Given the description of an element on the screen output the (x, y) to click on. 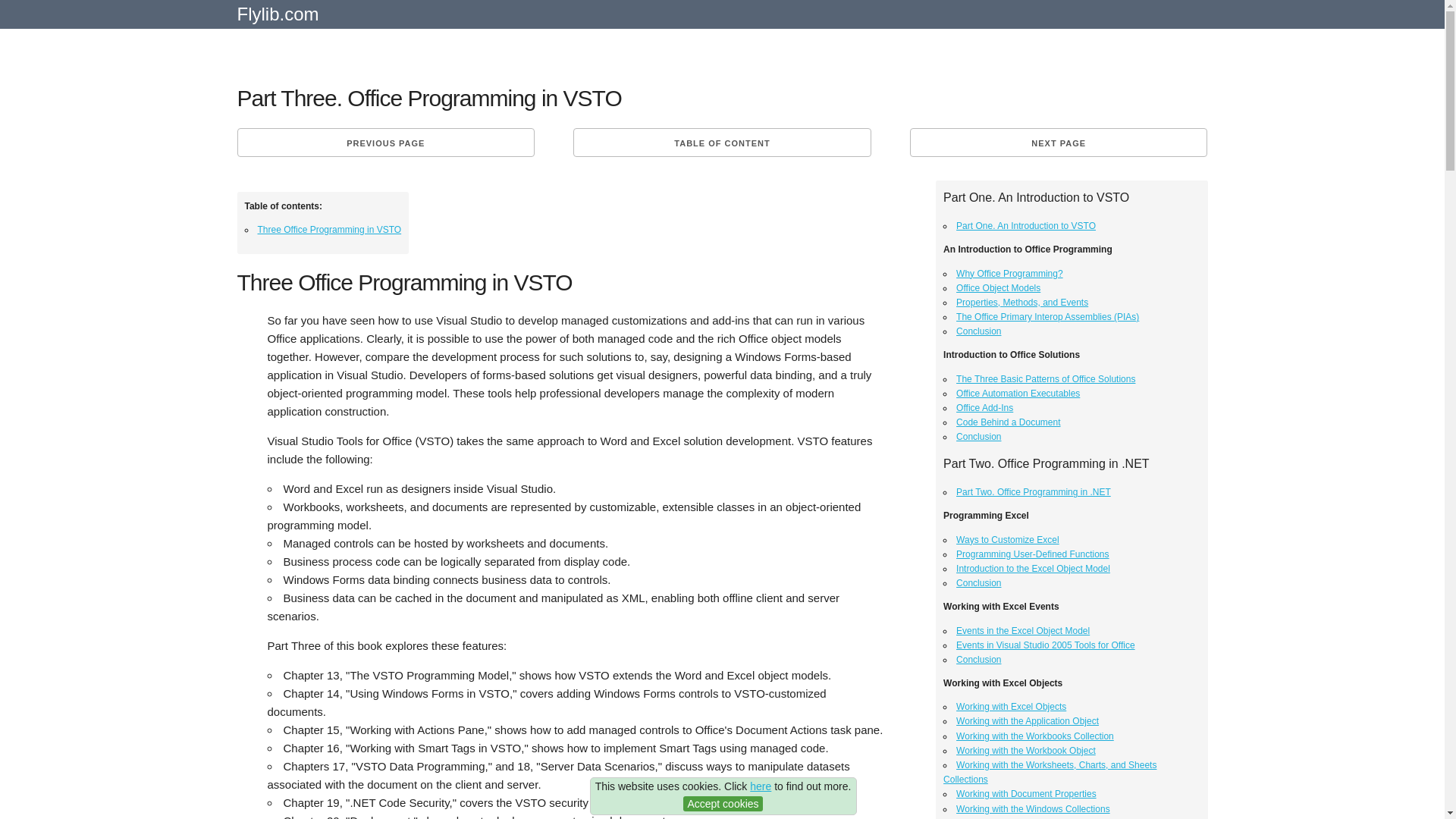
Three Office Programming in VSTO (329, 229)
Working with the Windows Collections (1032, 808)
Working with Document Properties (1026, 793)
Properties, Methods, and Events (1021, 302)
Code Behind a Document (1007, 421)
Events in the Excel Object Model (1022, 630)
PREVIOUS PAGE (384, 142)
Working with the Workbooks Collection (1034, 736)
Working with the Worksheets, Charts, and Sheets Collections (1049, 772)
TABLE OF CONTENT (721, 142)
